Given the description of an element on the screen output the (x, y) to click on. 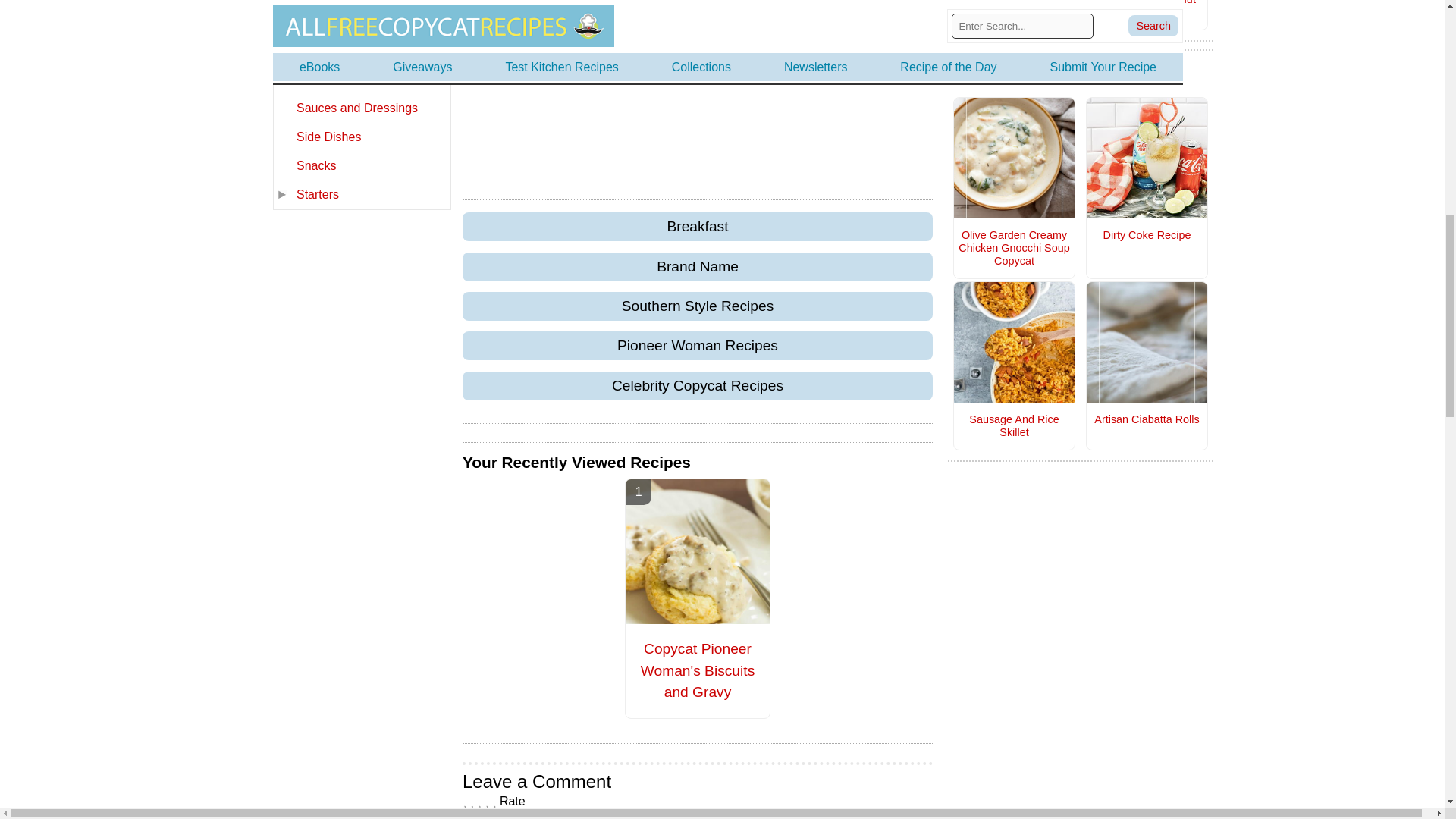
Insticator Content Engagement Unit (698, 84)
